Given the description of an element on the screen output the (x, y) to click on. 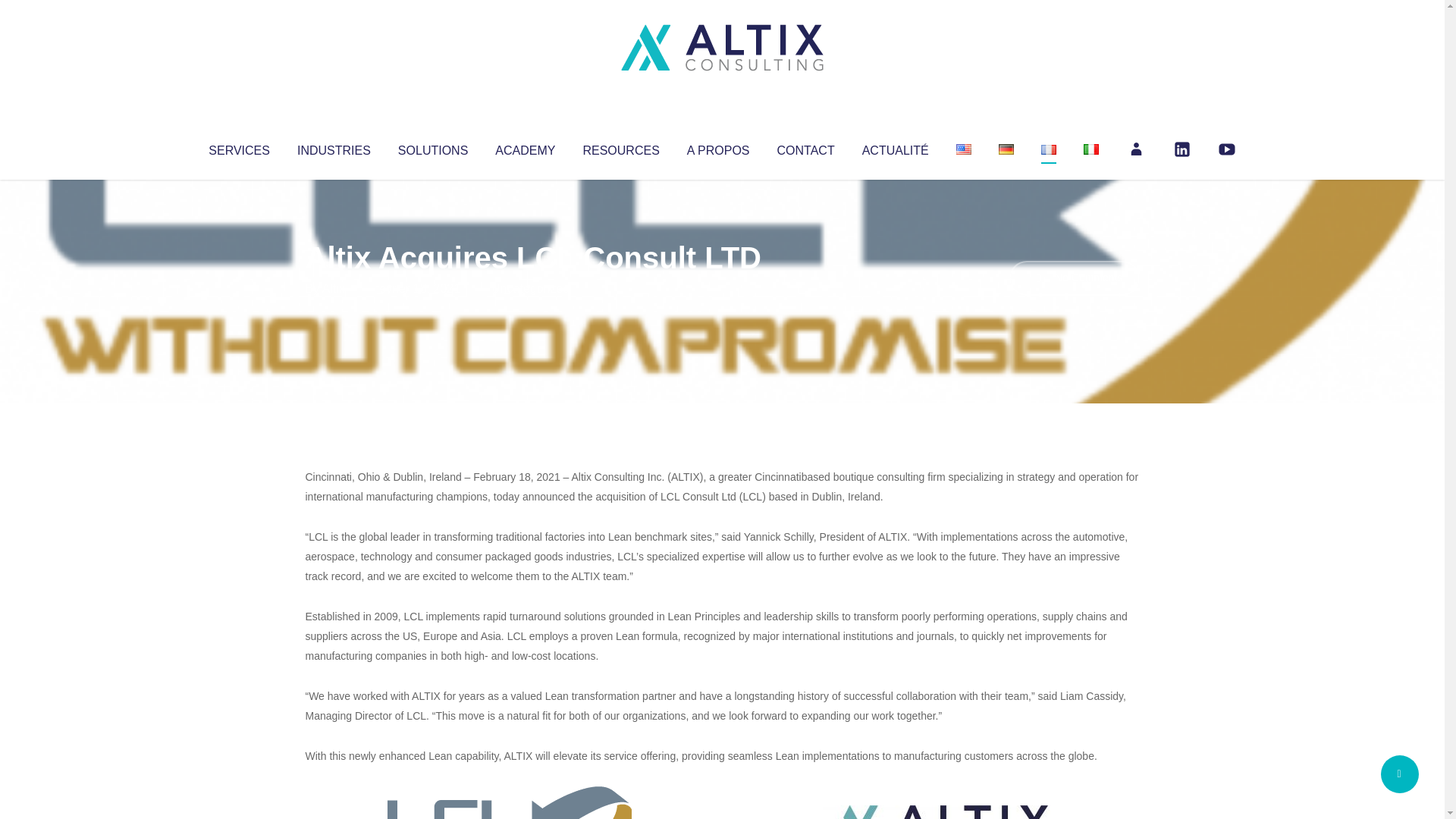
Altix (333, 287)
SERVICES (238, 146)
RESOURCES (620, 146)
Uncategorized (530, 287)
ACADEMY (524, 146)
No Comments (1073, 278)
SOLUTIONS (432, 146)
INDUSTRIES (334, 146)
A PROPOS (718, 146)
Articles par Altix (333, 287)
